Given the description of an element on the screen output the (x, y) to click on. 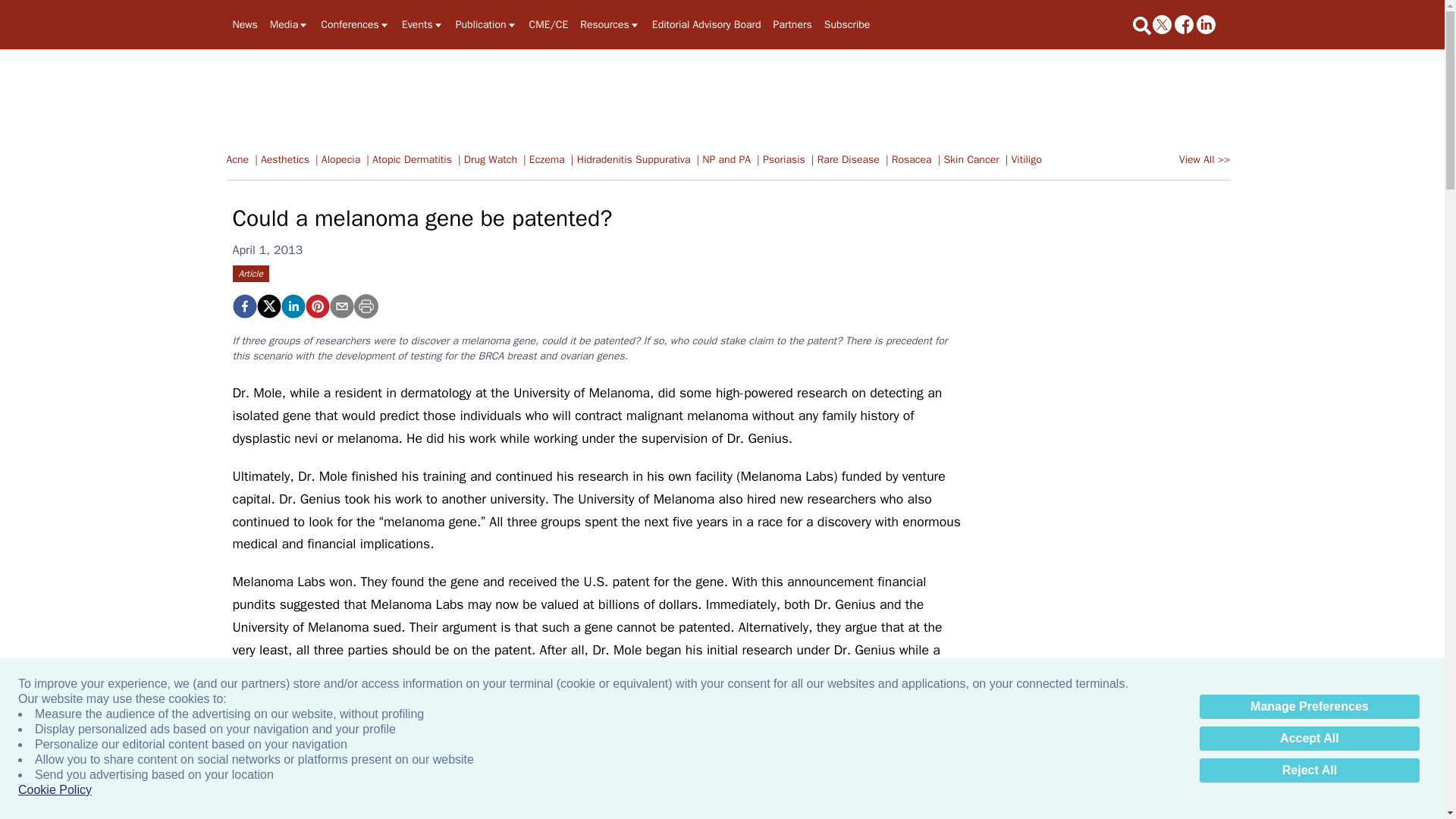
Could a melanoma gene be patented? (316, 306)
Reject All (1309, 769)
Manage Preferences (1309, 706)
Subscribe (847, 23)
Editorial Advisory Board (706, 23)
News (244, 23)
Cookie Policy (54, 789)
Accept All (1309, 738)
Could a melanoma gene be patented? (243, 306)
Partners (792, 23)
